Given the description of an element on the screen output the (x, y) to click on. 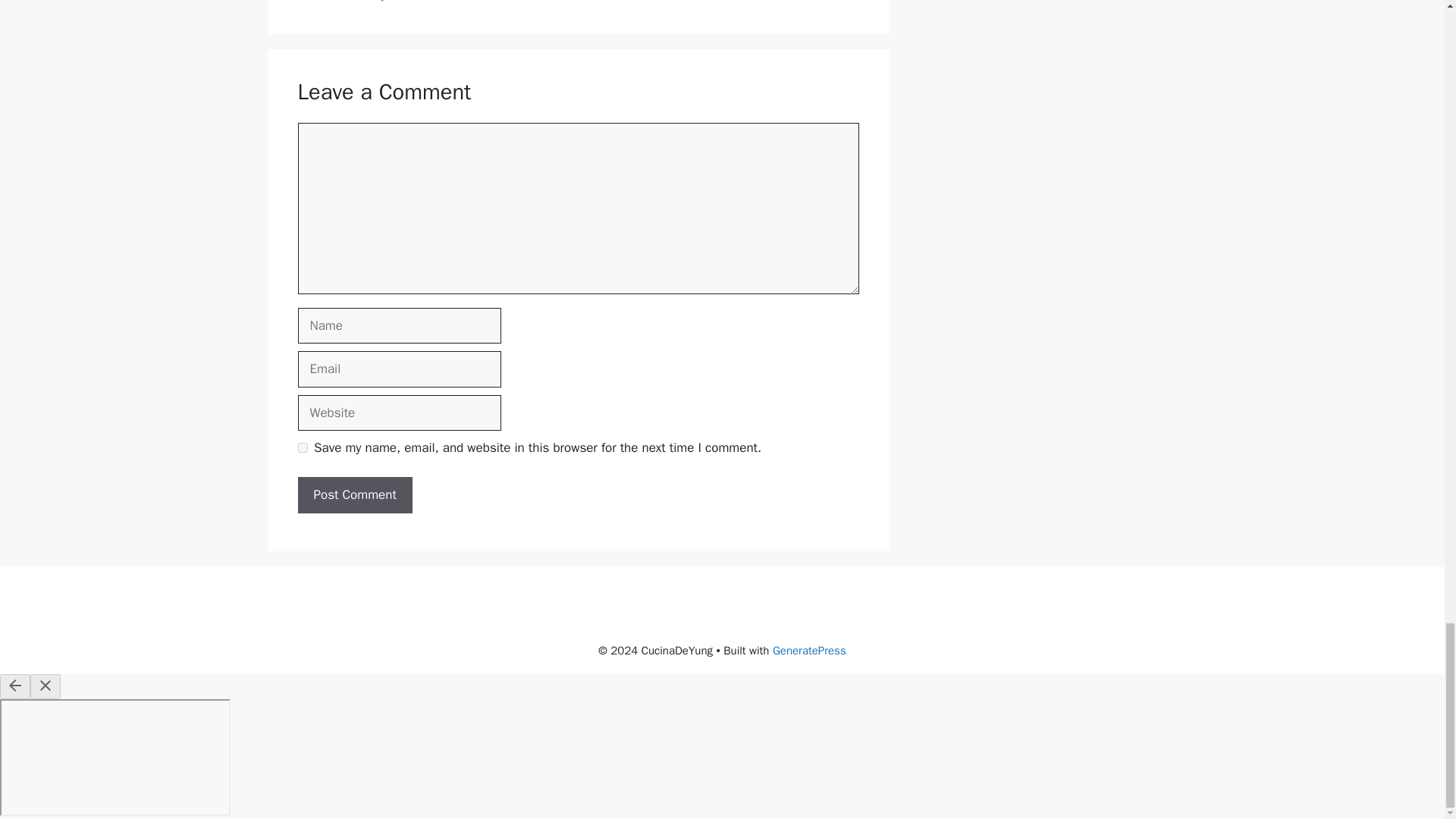
yes (302, 447)
Post Comment (354, 494)
Post Comment (354, 494)
All-American Quinoa Chili Fries (388, 1)
